Given the description of an element on the screen output the (x, y) to click on. 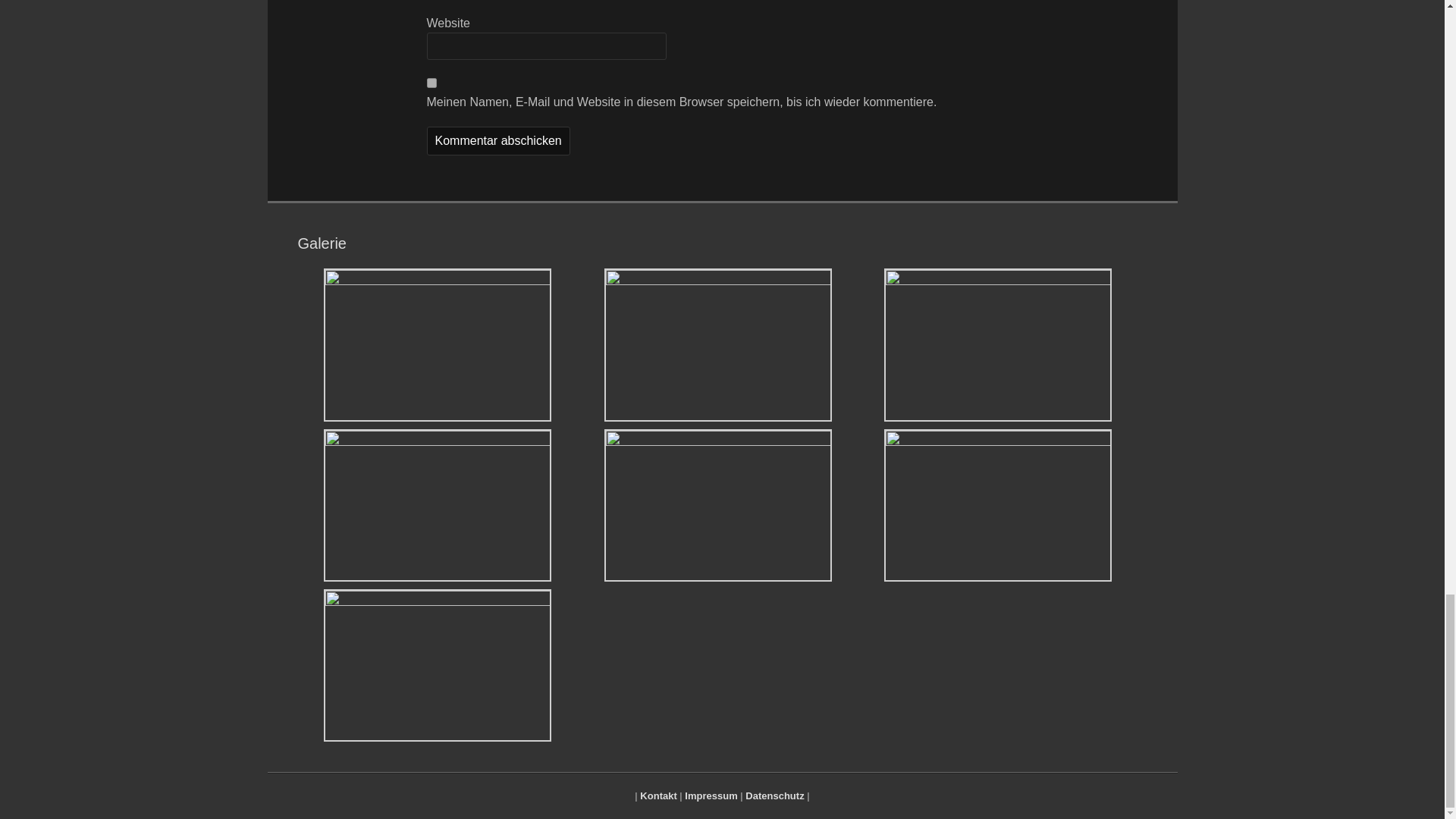
Kommentar abschicken (497, 140)
yes (430, 82)
Kommentar abschicken (497, 140)
Kontakt (658, 795)
